Given the description of an element on the screen output the (x, y) to click on. 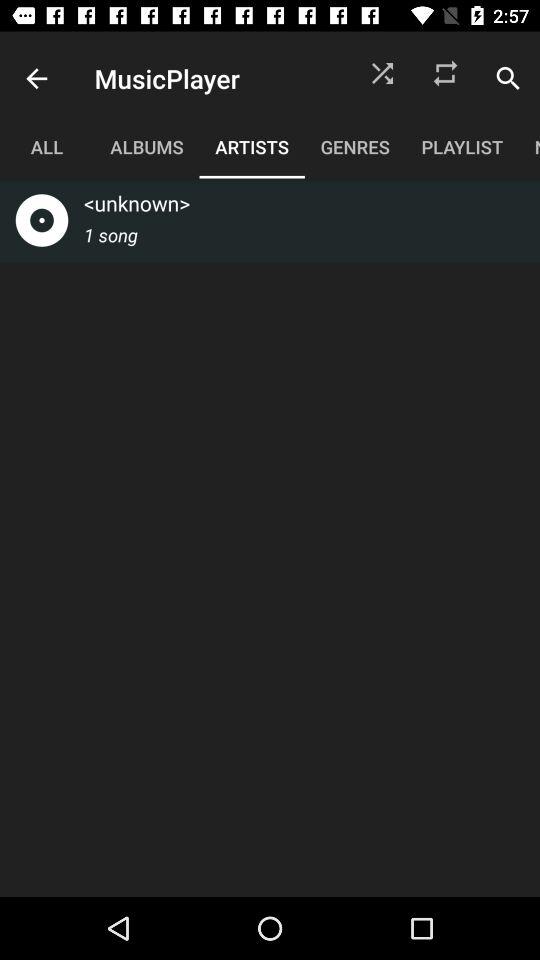
turn on item next to musicplayer icon (381, 78)
